Given the description of an element on the screen output the (x, y) to click on. 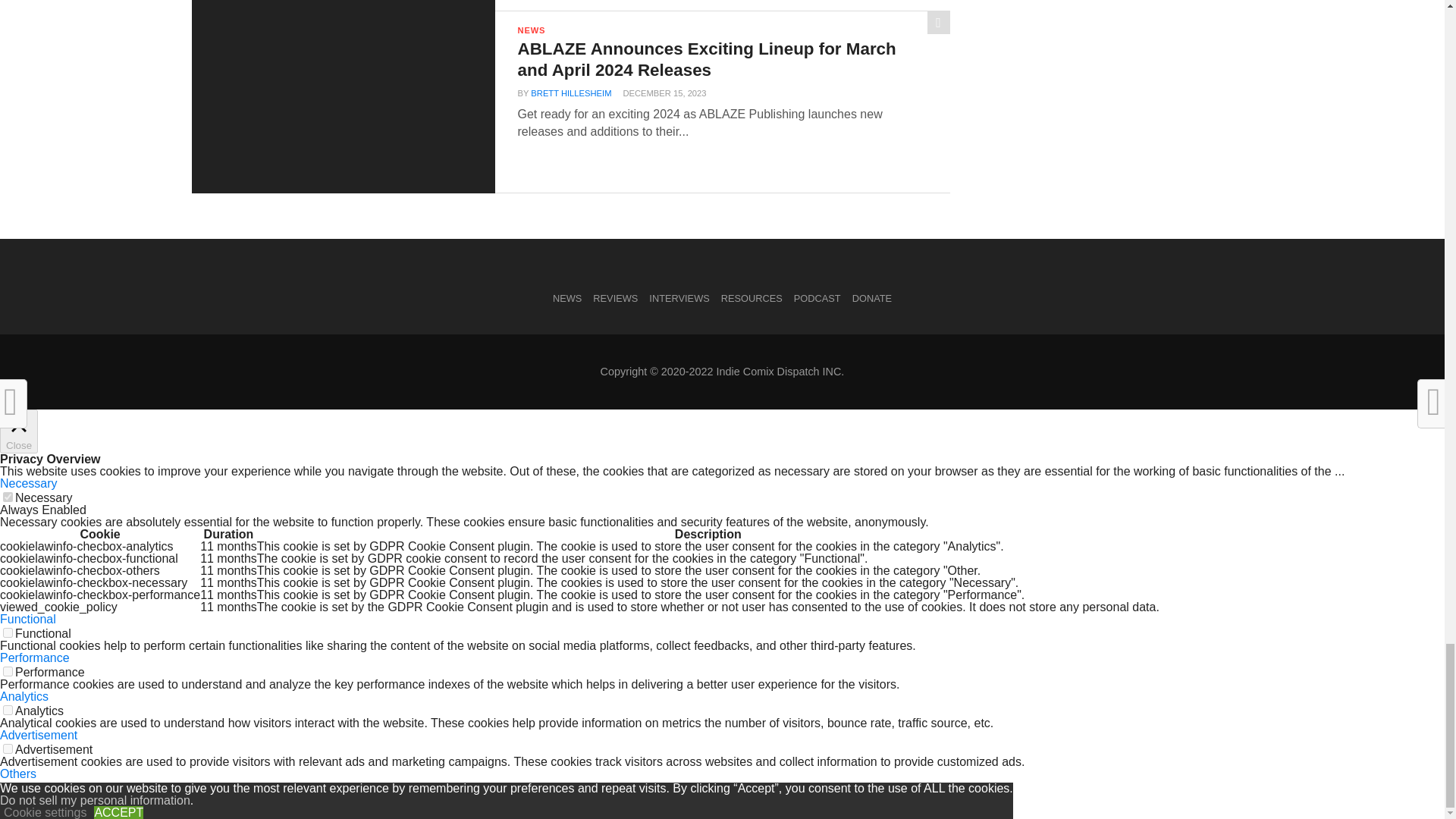
on (7, 497)
on (7, 671)
on (7, 748)
on (7, 709)
on (7, 633)
on (7, 787)
